Given the description of an element on the screen output the (x, y) to click on. 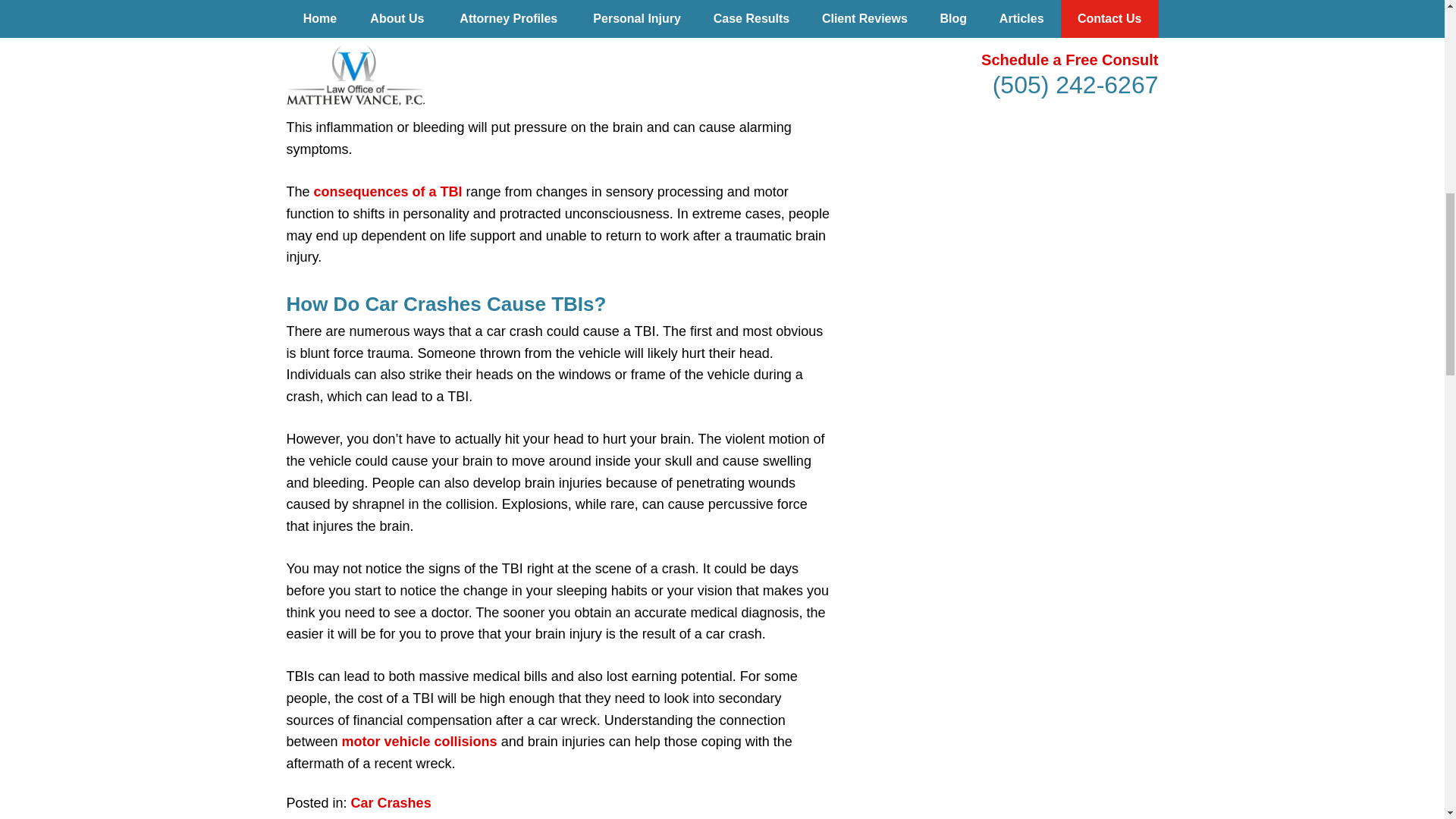
motor vehicle collisions (419, 741)
consequences of a TBI (388, 191)
Car Crashes (390, 802)
